Given the description of an element on the screen output the (x, y) to click on. 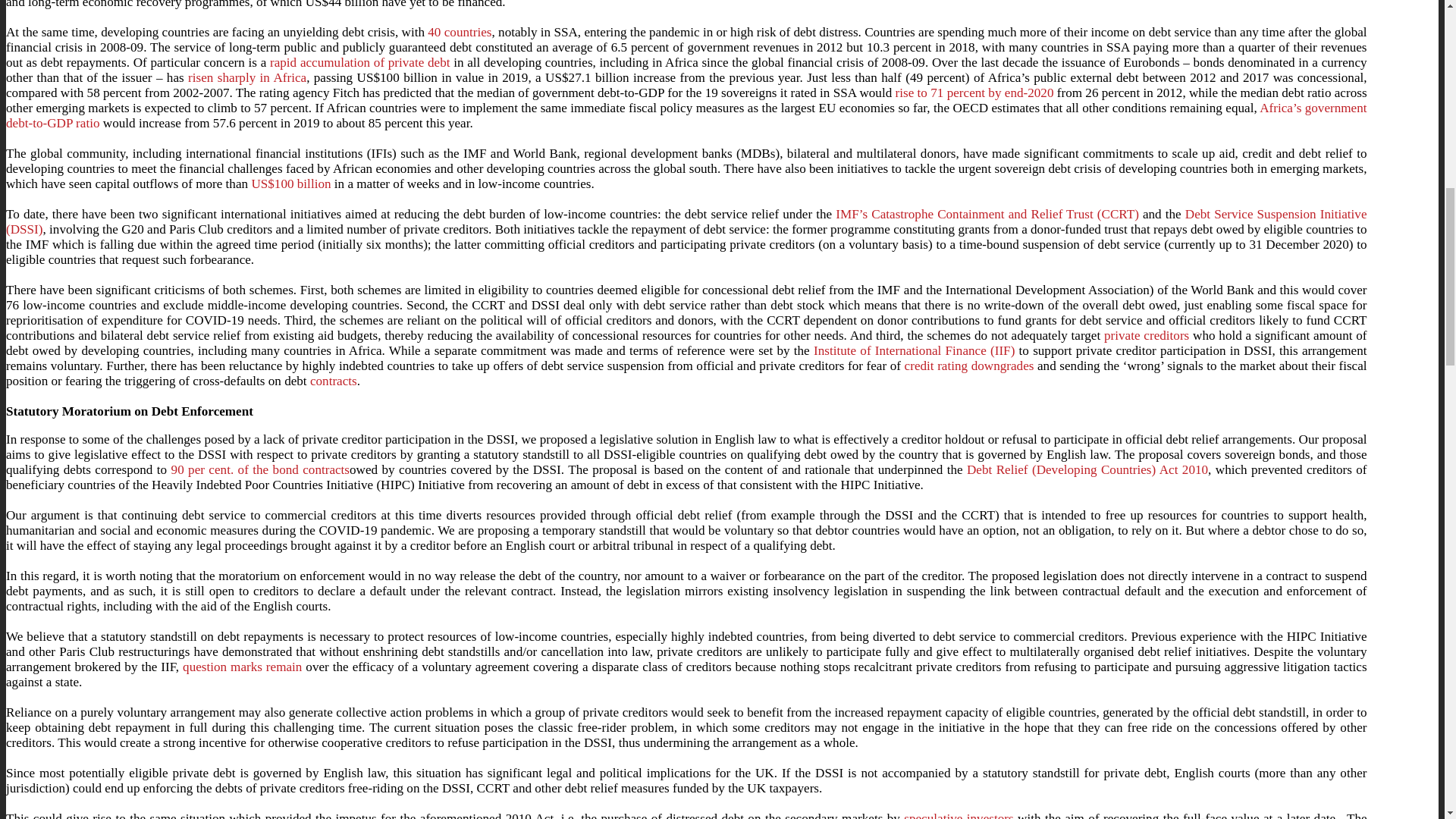
40 countries (460, 32)
risen sharply in Africa (246, 77)
rapid accumulation of private debt (359, 62)
rise to 71 percent by end-2020 (974, 92)
